Given the description of an element on the screen output the (x, y) to click on. 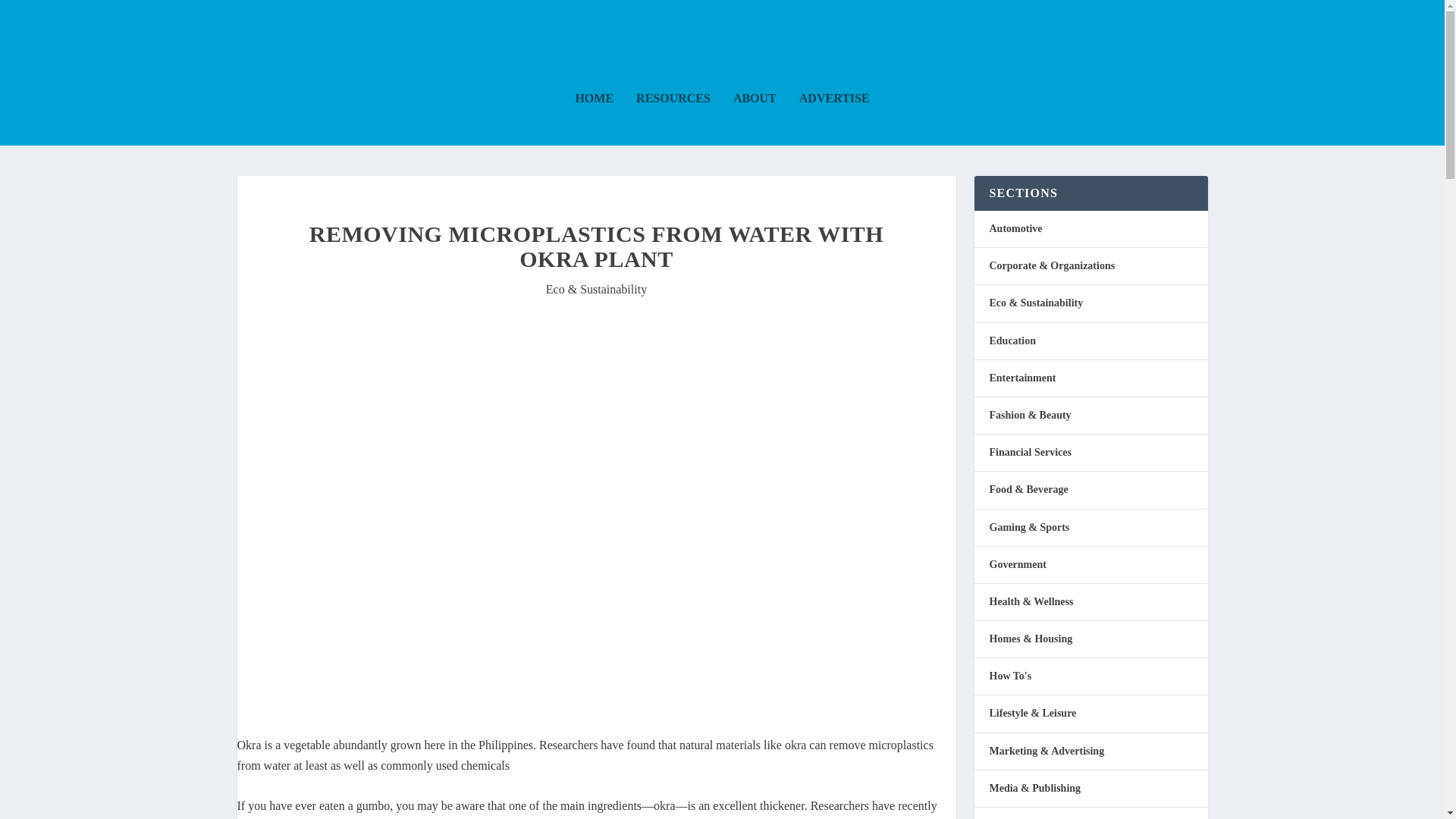
Entertainment (1021, 378)
ADVERTISE (834, 118)
Financial Services (1029, 451)
Automotive (1015, 228)
How To's (1009, 675)
RESOURCES (673, 118)
Government (1016, 564)
Education (1011, 340)
